Given the description of an element on the screen output the (x, y) to click on. 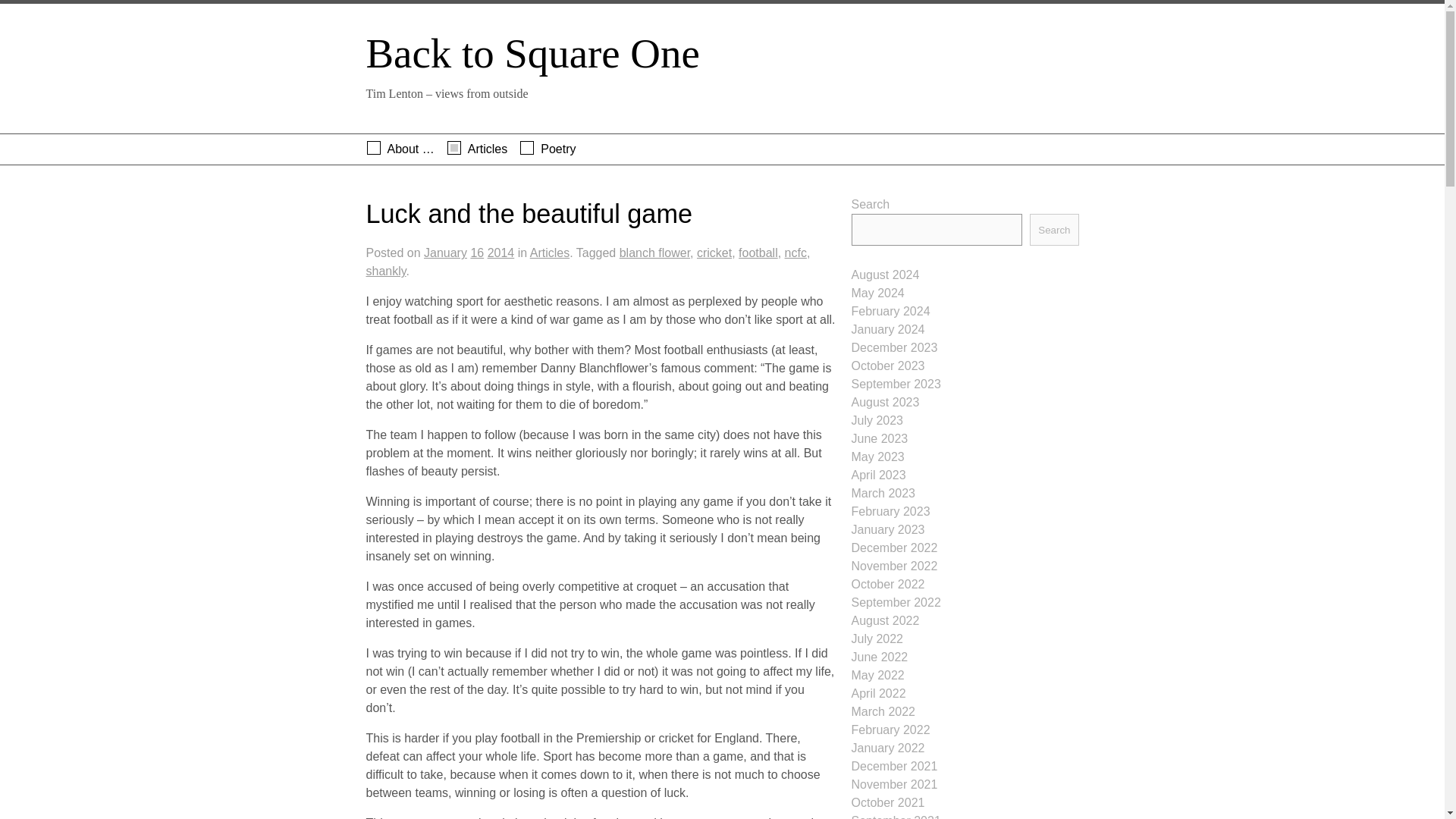
August 2023 (884, 401)
July 2022 (876, 638)
April 2023 (877, 474)
December 2022 (893, 547)
May 2023 (877, 456)
blanch flower (655, 258)
January 2024 (887, 328)
2014 (501, 258)
December 2023 (893, 347)
September 2023 (895, 383)
